Given the description of an element on the screen output the (x, y) to click on. 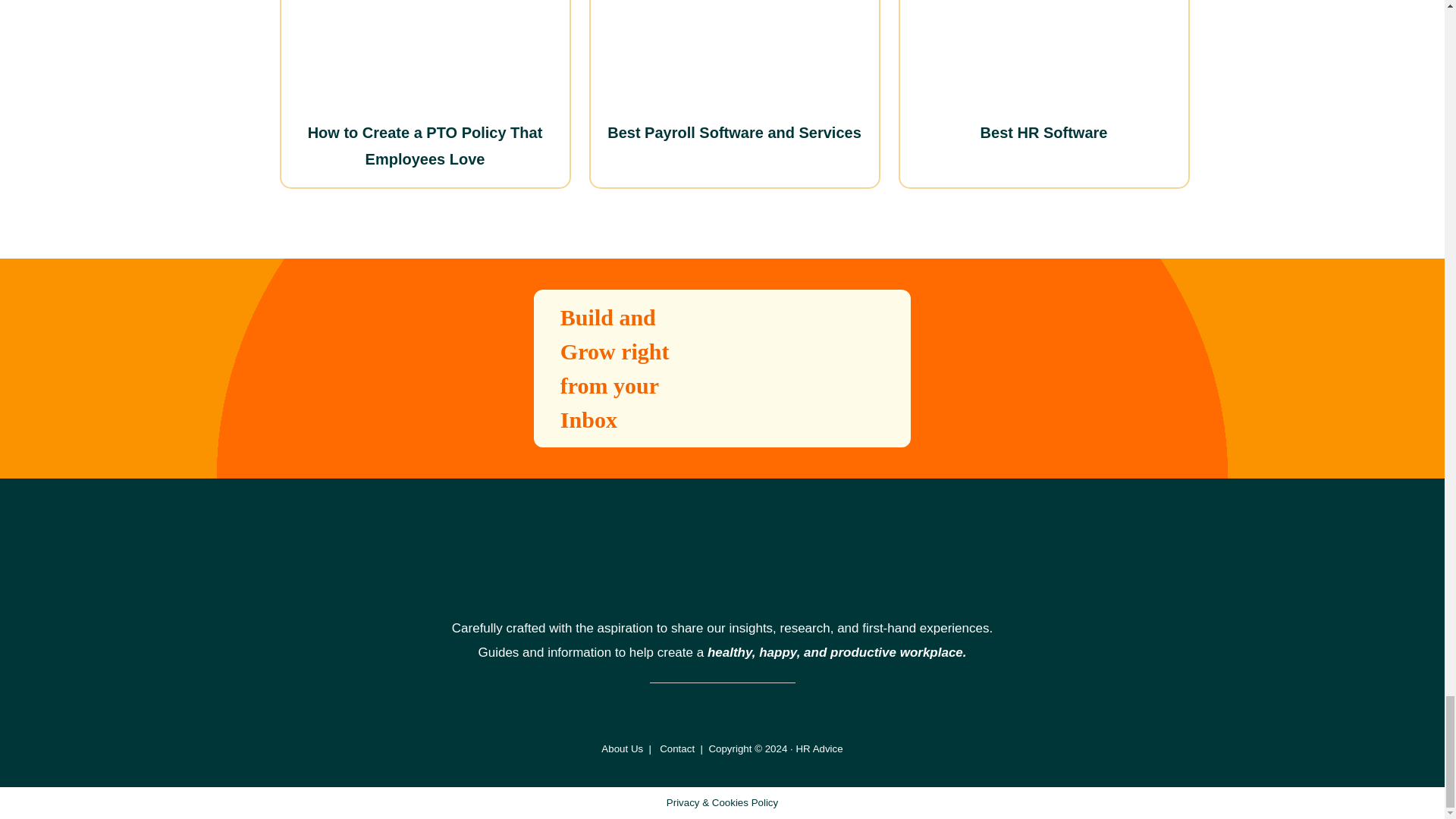
Contact (676, 748)
About Us (622, 748)
Best HR Software (1043, 132)
Best Payroll Software and Services (734, 132)
How to Create a PTO Policy That Employees Love (425, 145)
